Given the description of an element on the screen output the (x, y) to click on. 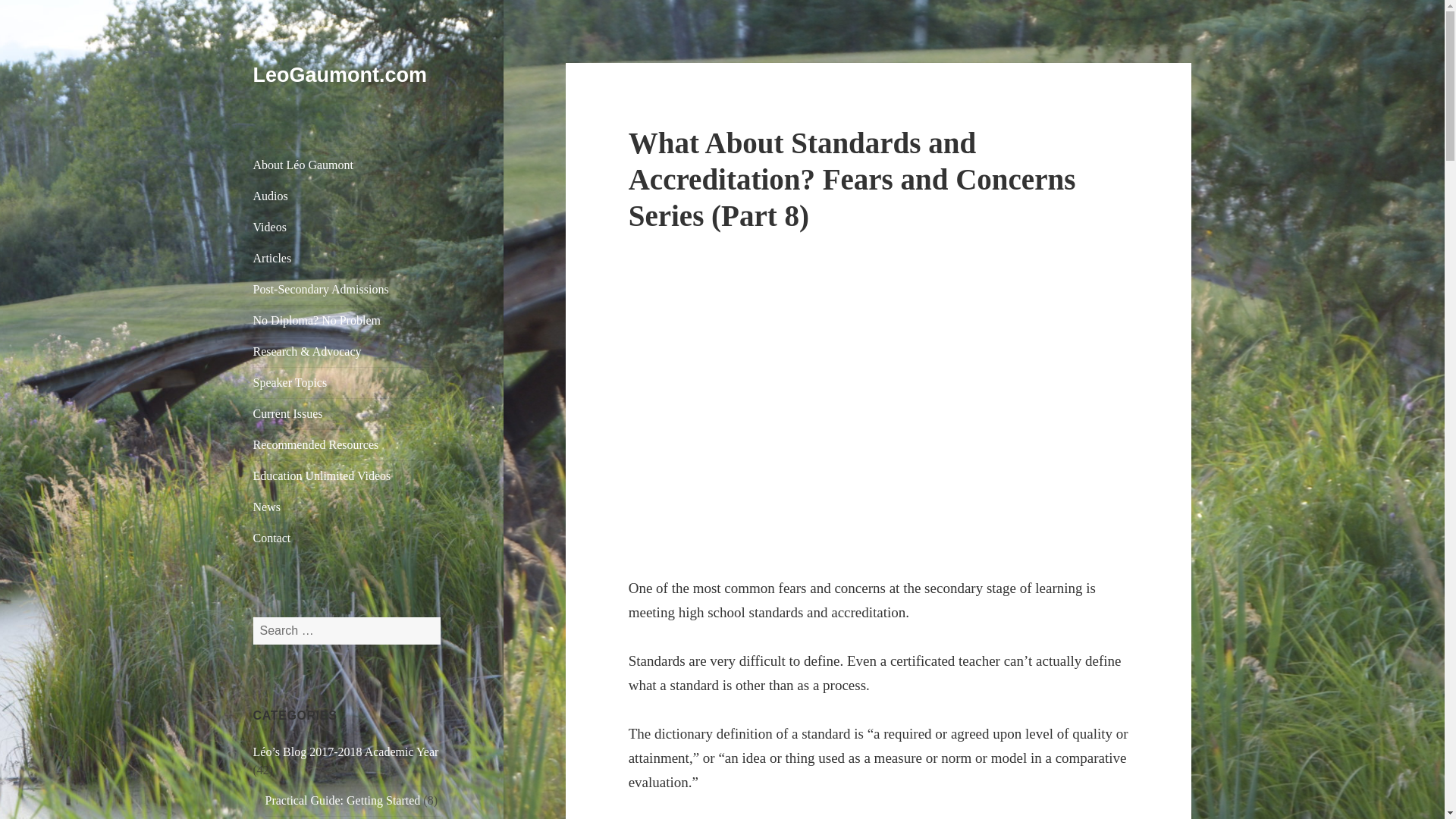
Practical Guide: Getting Started (342, 799)
Articles (347, 258)
Current Issues (347, 413)
No Diploma? No Problem (347, 320)
LeoGaumont.com (340, 74)
Education Unlimited Videos (347, 476)
Recommended Resources (347, 444)
Contact (347, 538)
Audios (347, 195)
News (347, 507)
Post-Secondary Admissions (347, 289)
Speaker Topics (347, 382)
